Given the description of an element on the screen output the (x, y) to click on. 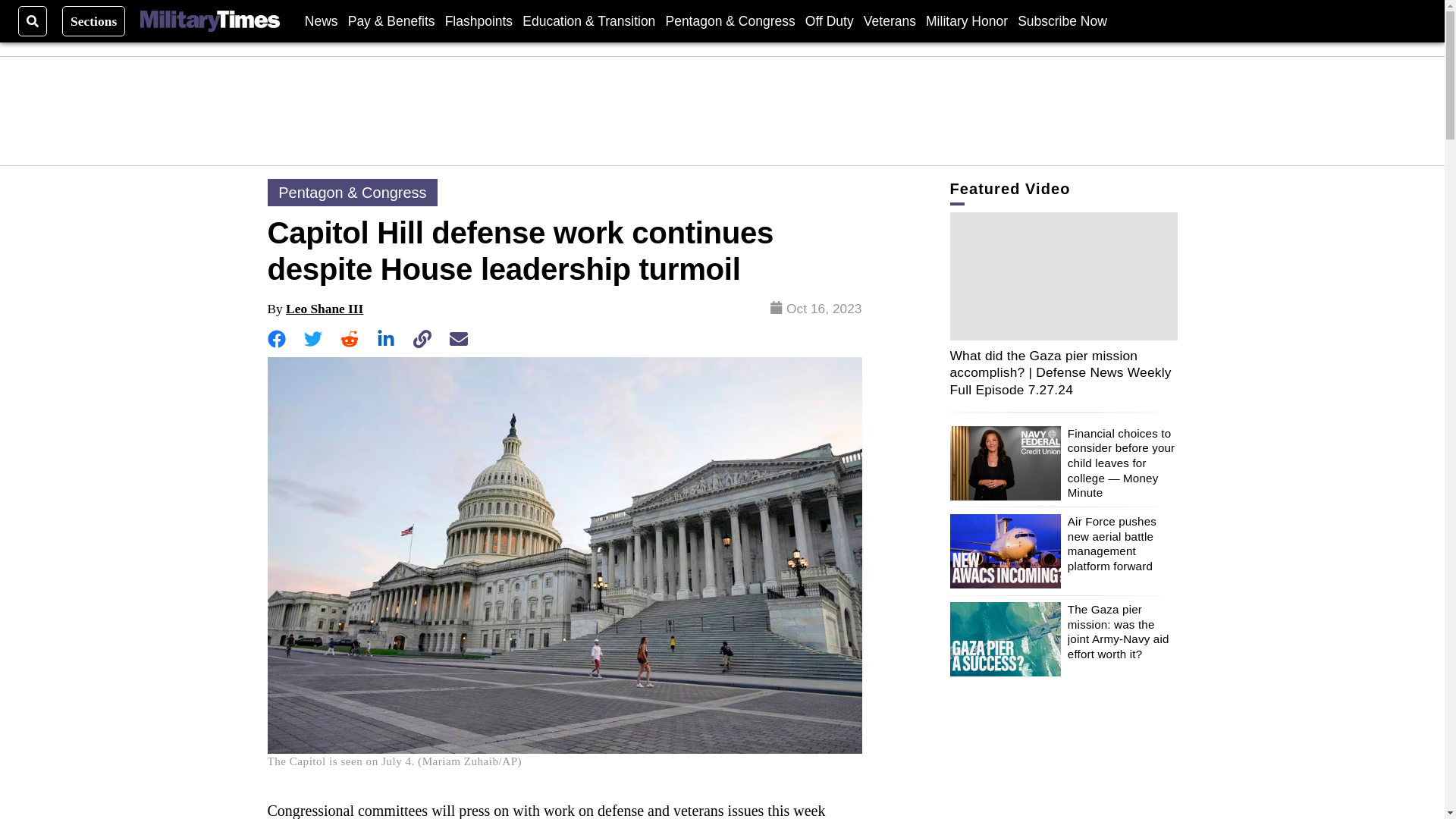
Sections (93, 20)
Flashpoints (479, 20)
Off Duty (829, 20)
News (320, 20)
Military Honor (966, 20)
Veterans (889, 20)
Military Times Logo (209, 20)
